Given the description of an element on the screen output the (x, y) to click on. 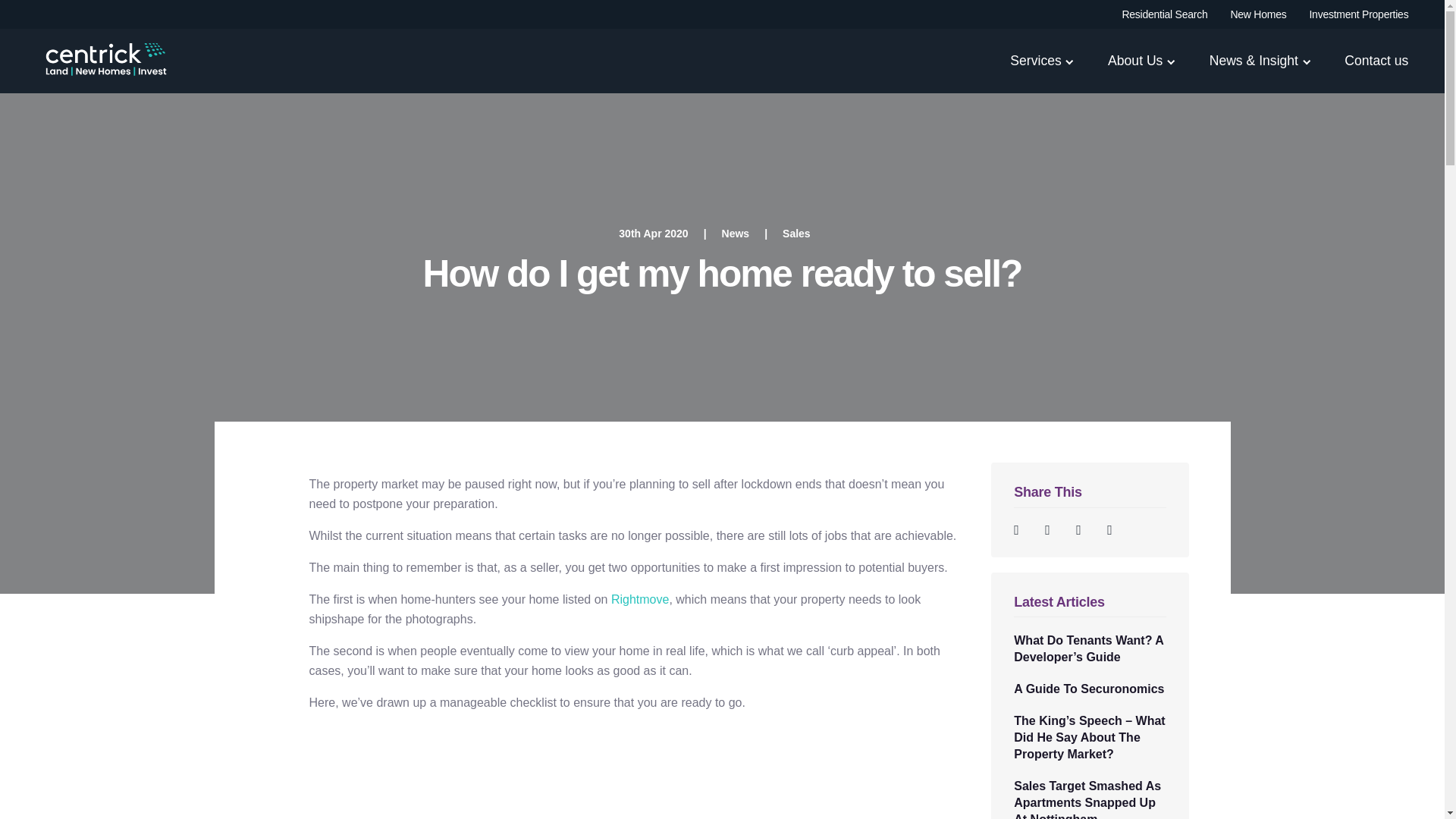
Residential Search (1164, 14)
New Homes (1257, 14)
Services (1035, 71)
Contact us (1375, 71)
Investment Developments (1357, 14)
Investment Properties (1357, 14)
About Us (1134, 71)
How to get your home ready to sell... (634, 771)
